Given the description of an element on the screen output the (x, y) to click on. 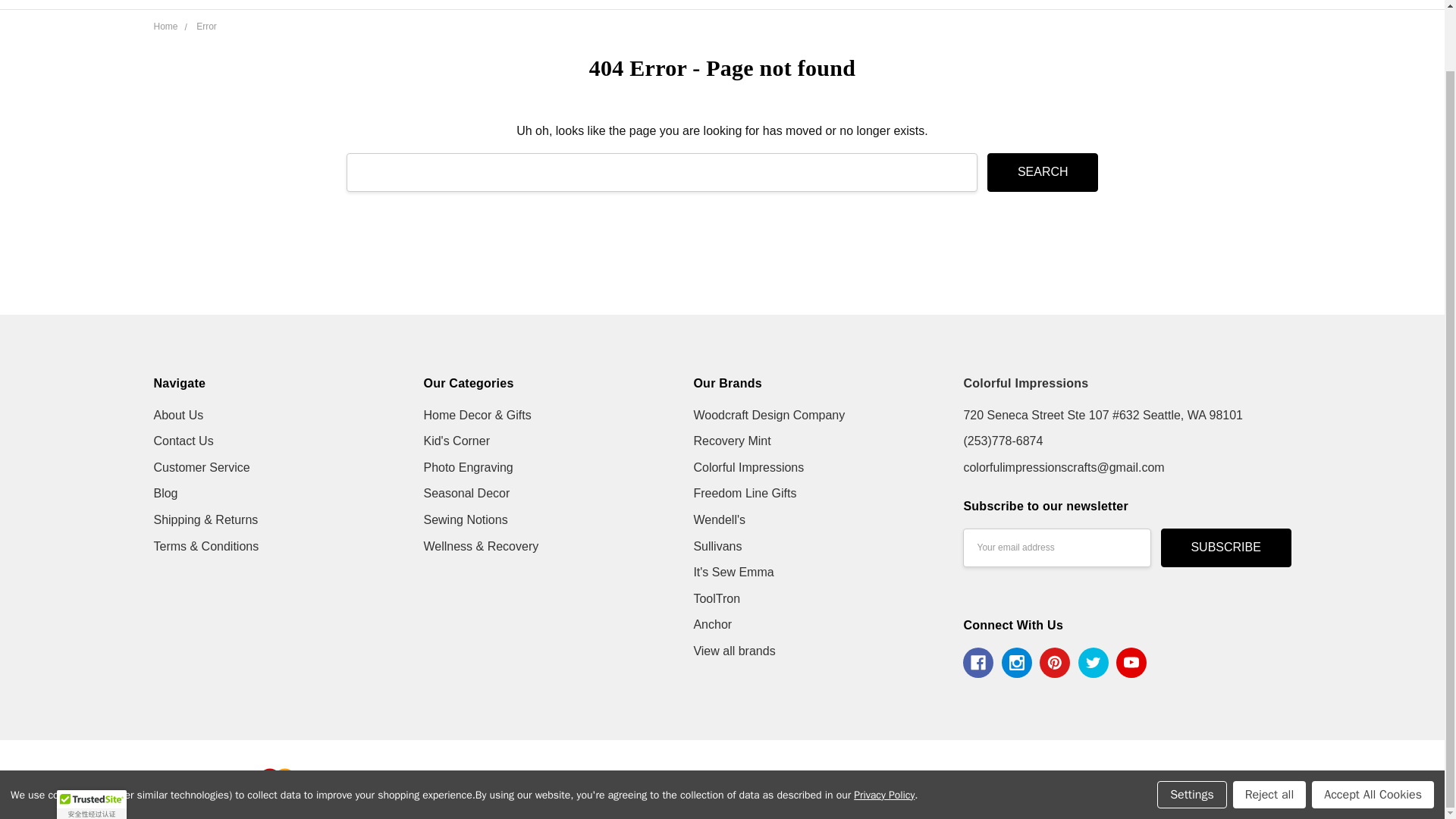
TrustedSite Certified (91, 737)
SEASONAL DECOR (990, 4)
Show All (1082, 4)
HOME (481, 4)
Subscribe (1225, 547)
PHOTO ENGRAVING (854, 4)
BLOG (481, 4)
COLORFUL IMPRESSIONS (263, 22)
KID'S CORNER (728, 4)
ABOUT US (493, 4)
CUSTOMER SERVICE (520, 4)
Search (1042, 172)
CONTACT US (499, 4)
